Given the description of an element on the screen output the (x, y) to click on. 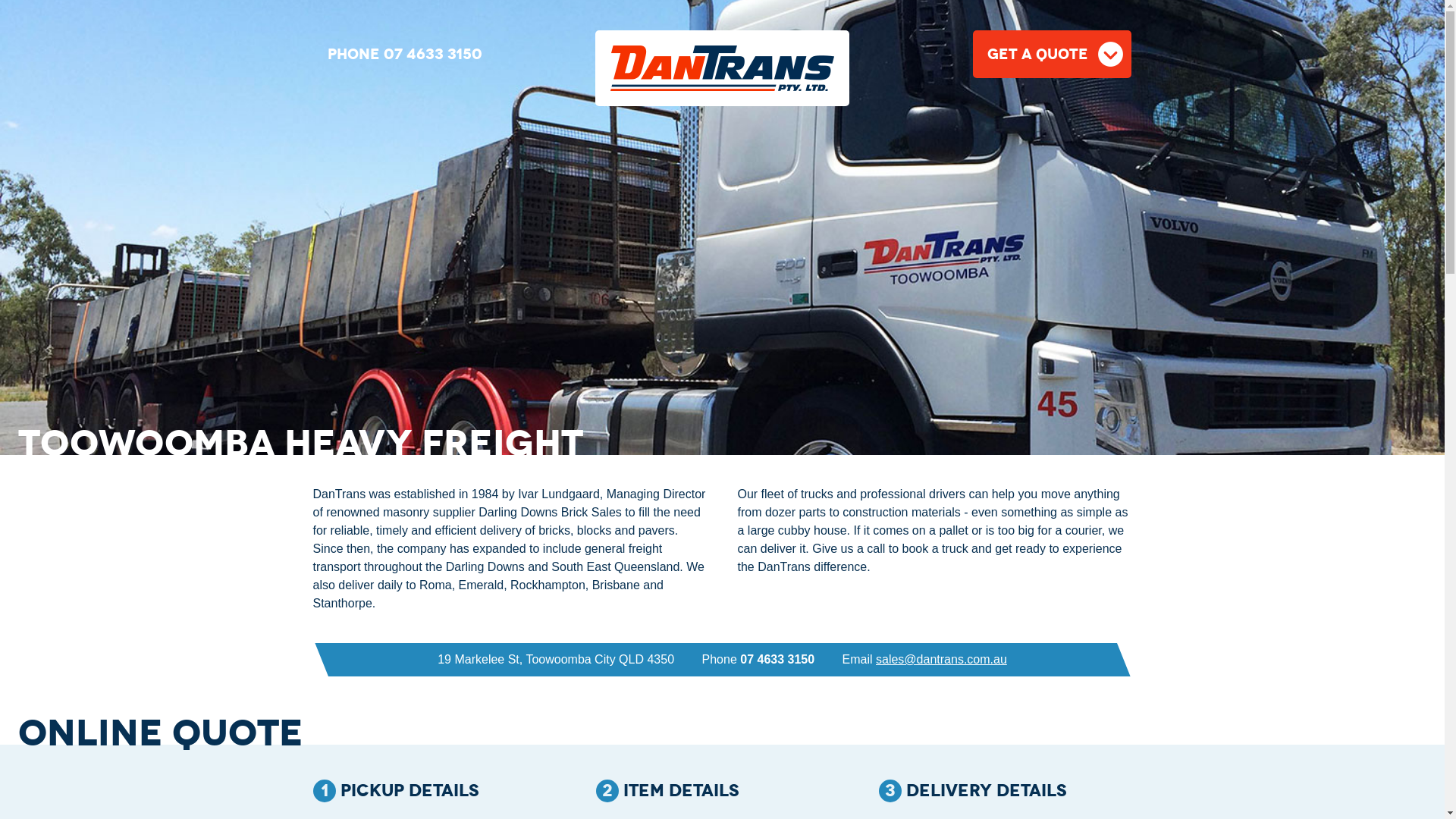
GET A QUOTE Element type: text (1052, 54)
sales@dantrans.com.au Element type: text (941, 658)
